Given the description of an element on the screen output the (x, y) to click on. 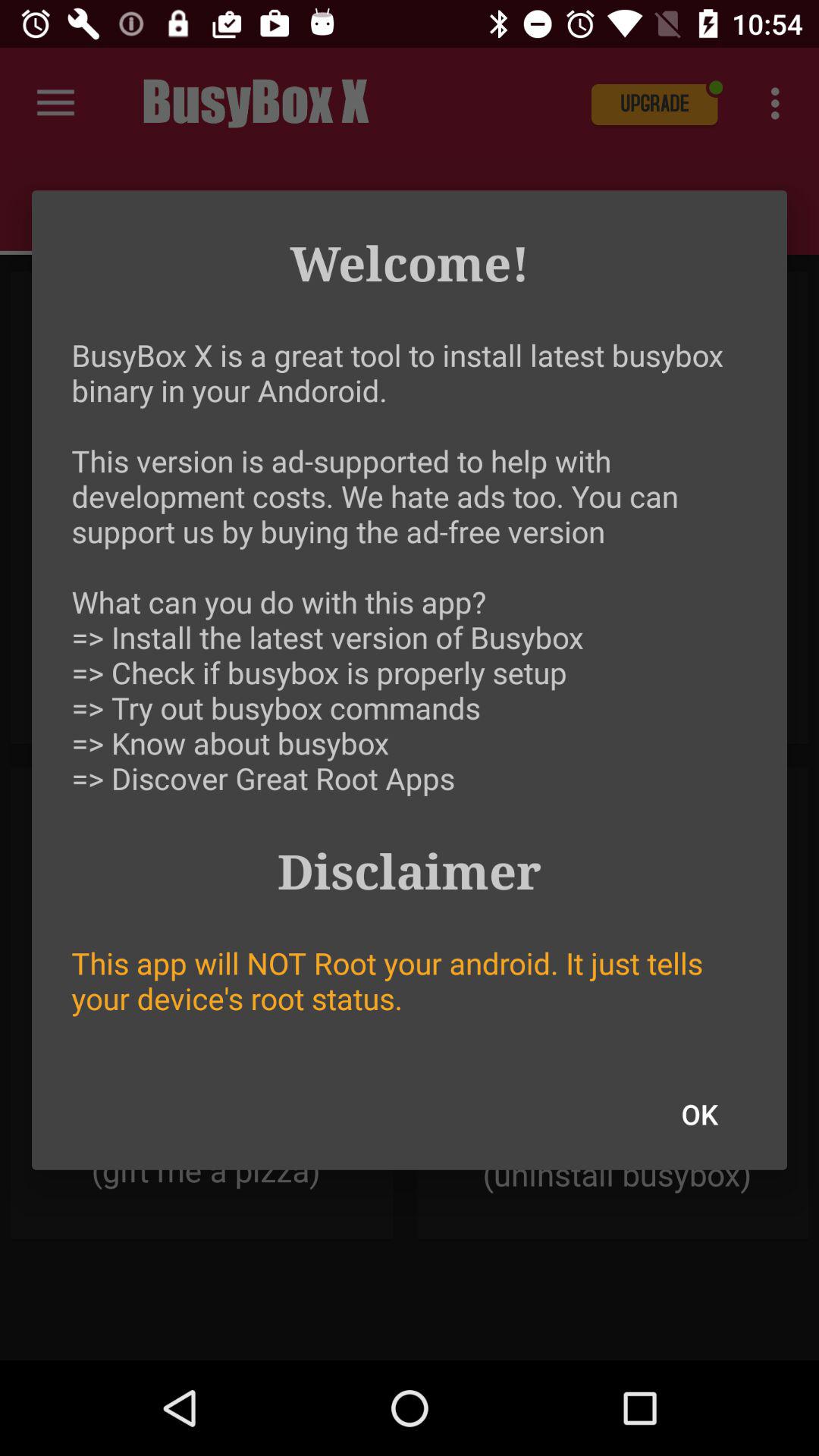
tap the item at the bottom right corner (699, 1113)
